Given the description of an element on the screen output the (x, y) to click on. 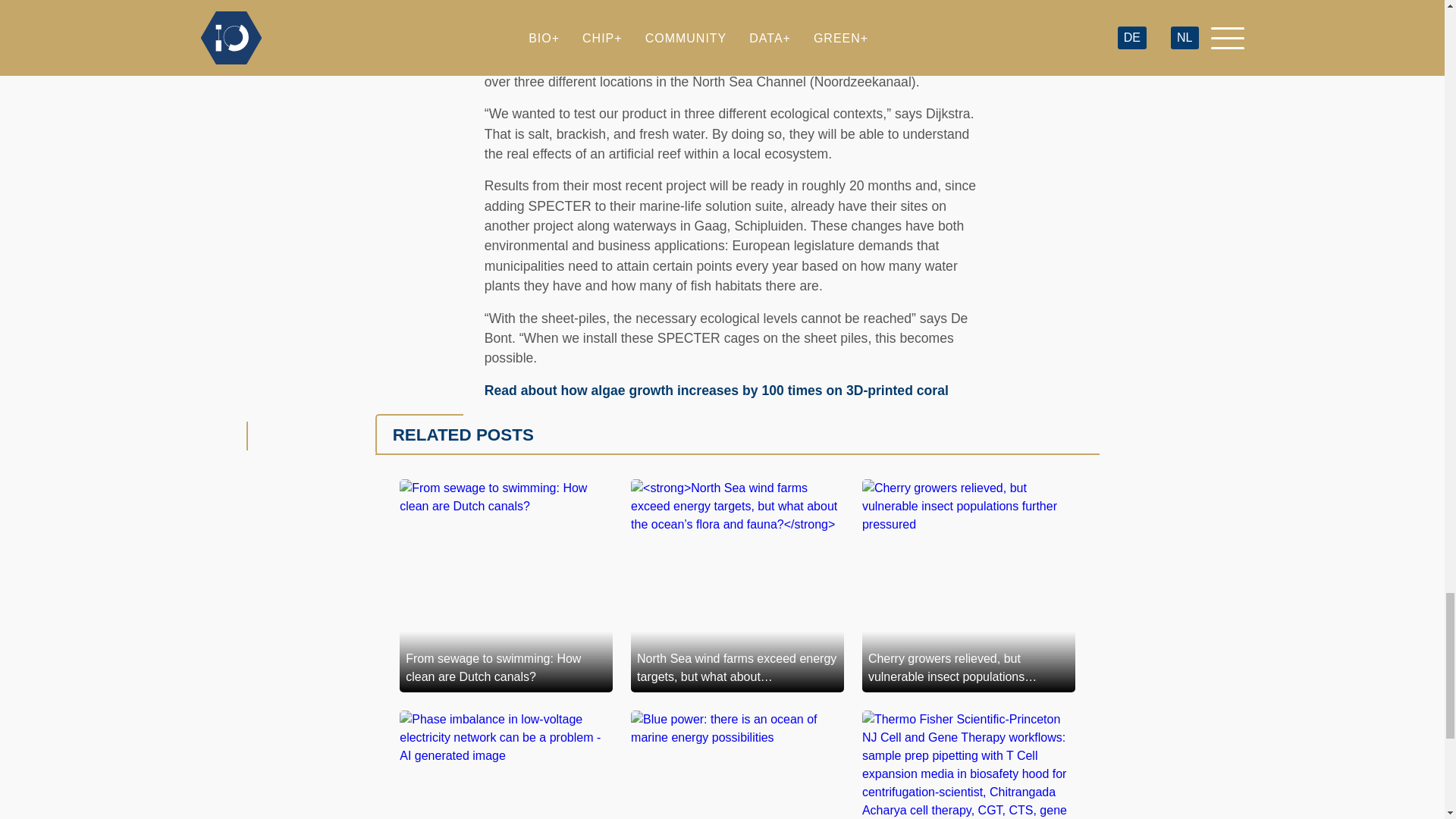
From sewage to swimming: How clean are Dutch canals? (505, 585)
